Given the description of an element on the screen output the (x, y) to click on. 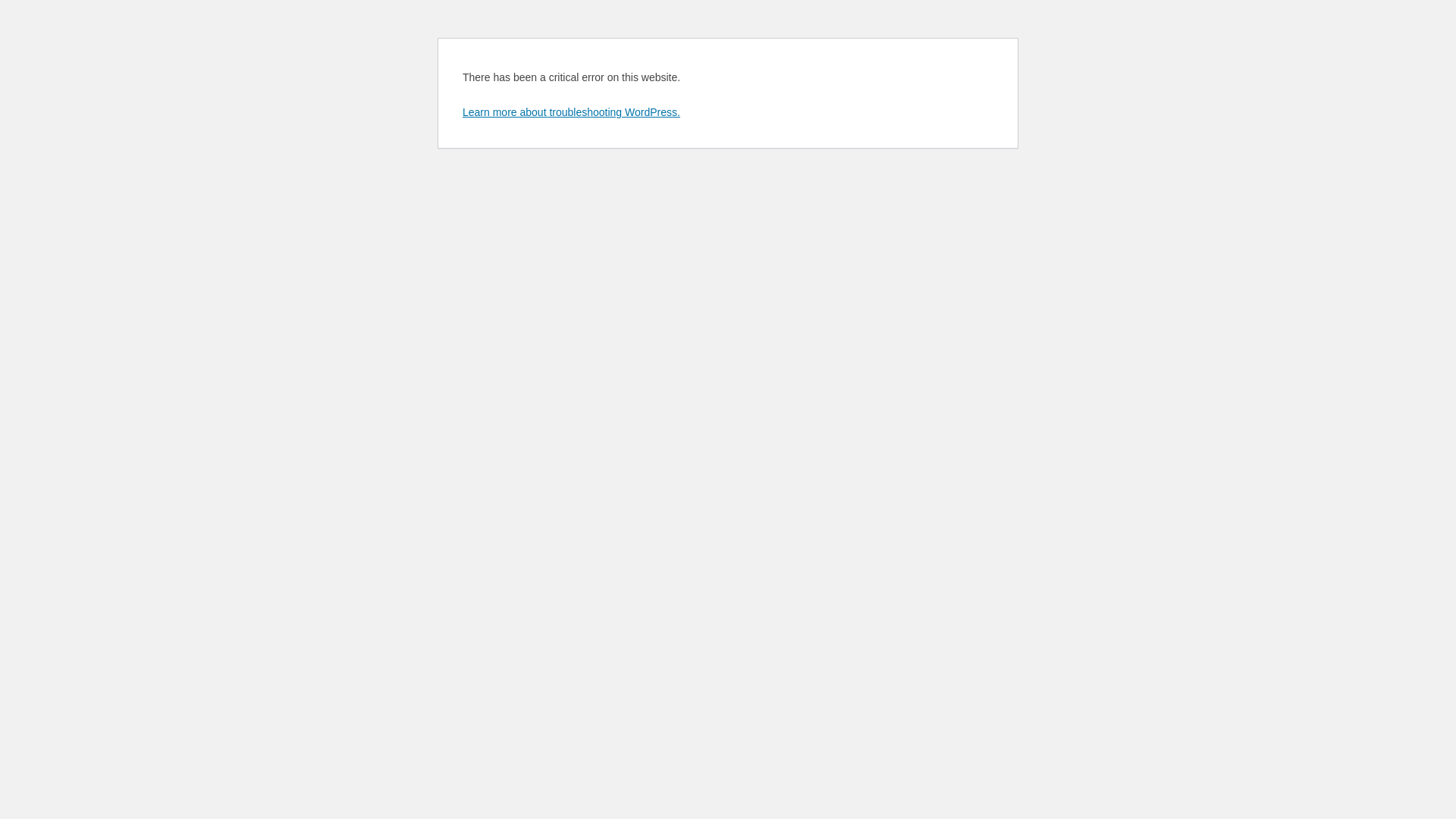
Learn more about troubleshooting WordPress. Element type: text (571, 112)
